Given the description of an element on the screen output the (x, y) to click on. 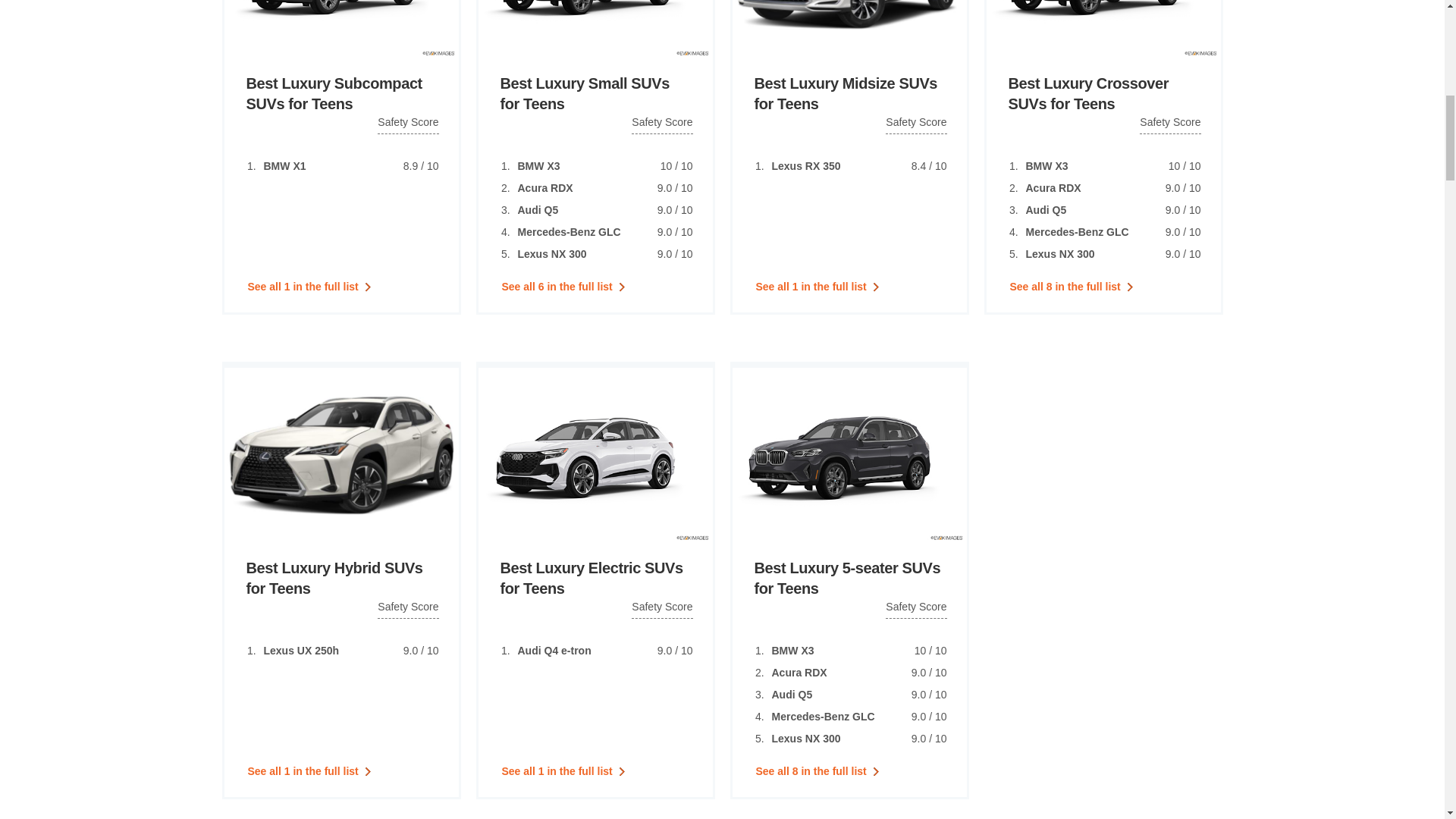
See all 1 in the full list (310, 286)
Best Luxury Small SUVs for Teens (596, 93)
Best Luxury Subcompact SUVs for Teens (342, 93)
